Given the description of an element on the screen output the (x, y) to click on. 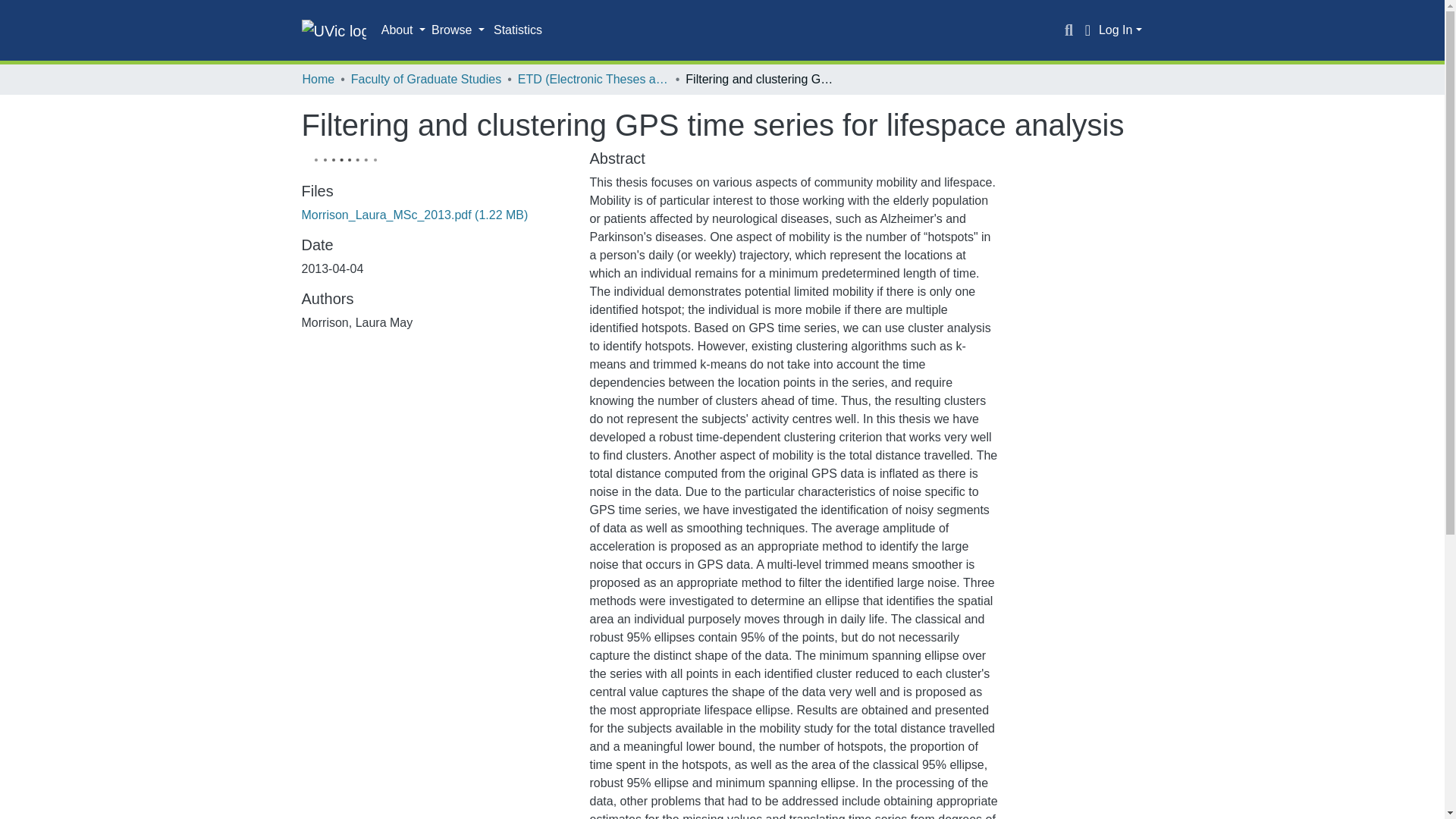
Language switch (1087, 30)
Home (317, 79)
Search (1068, 30)
Statistics (517, 30)
About (403, 30)
Log In (1119, 29)
Faculty of Graduate Studies (425, 79)
Browse (457, 30)
Statistics (517, 30)
